Given the description of an element on the screen output the (x, y) to click on. 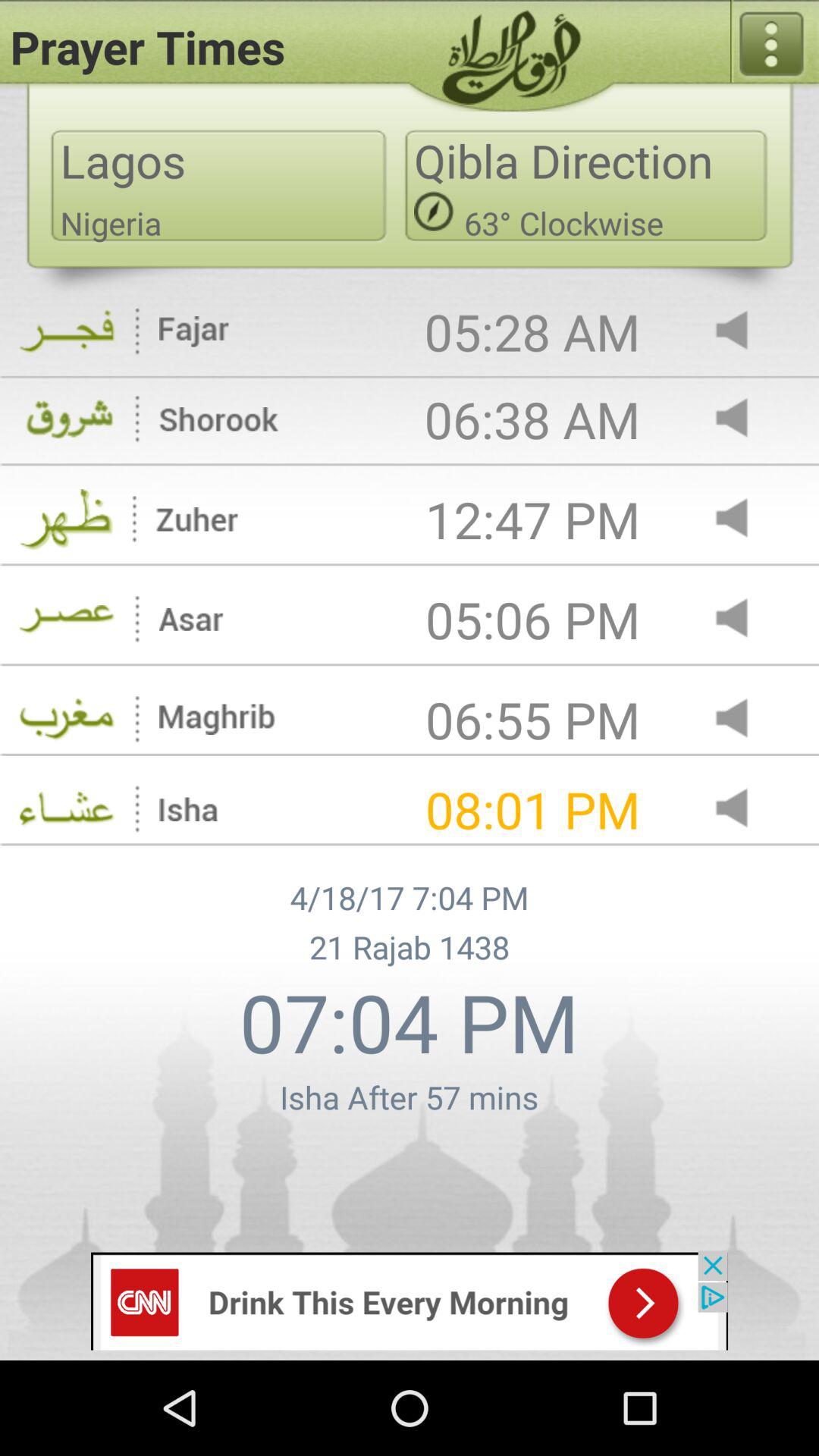
link to advertisement (409, 1300)
